Given the description of an element on the screen output the (x, y) to click on. 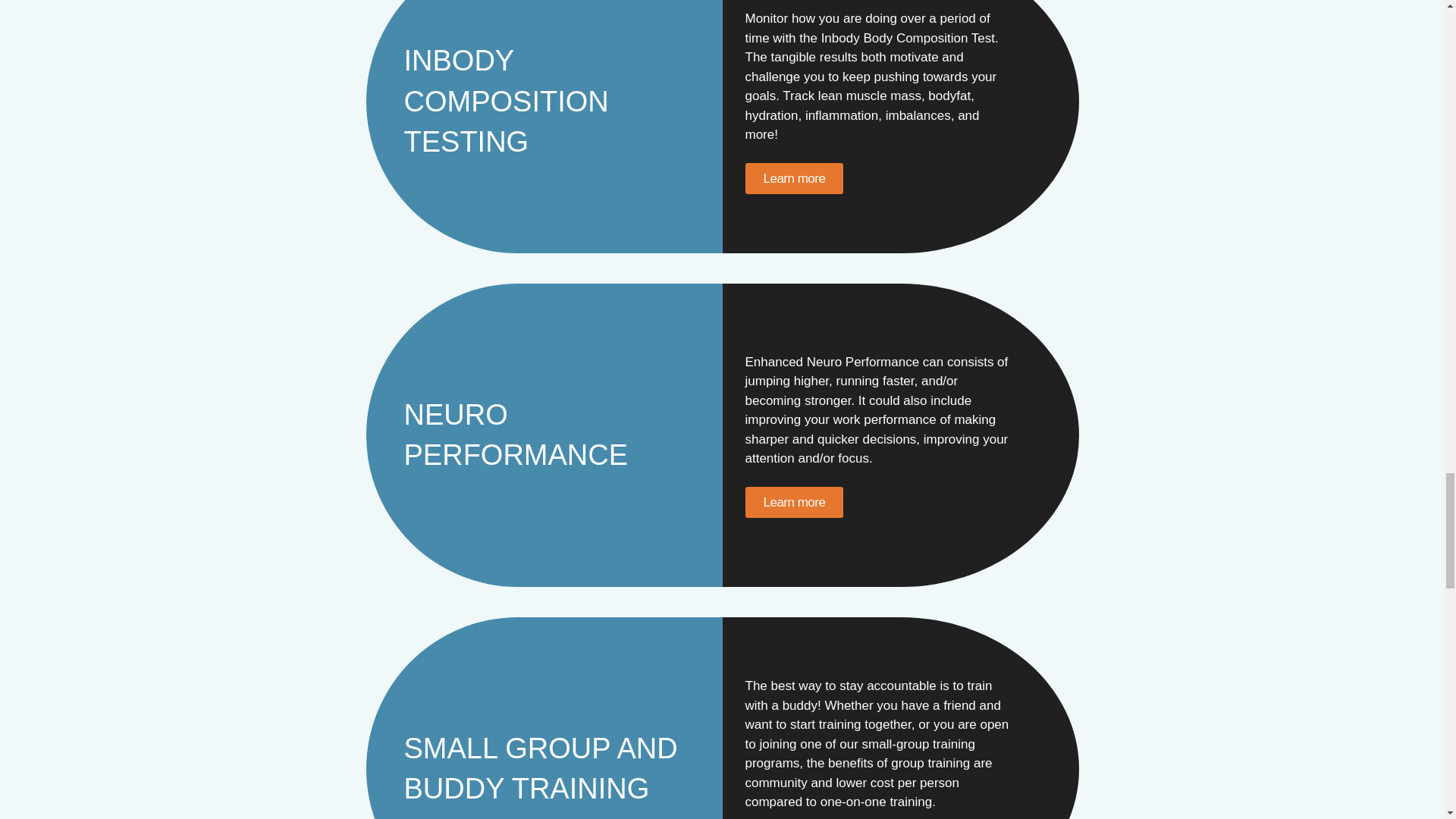
Learn more (793, 178)
Learn more (793, 501)
